Given the description of an element on the screen output the (x, y) to click on. 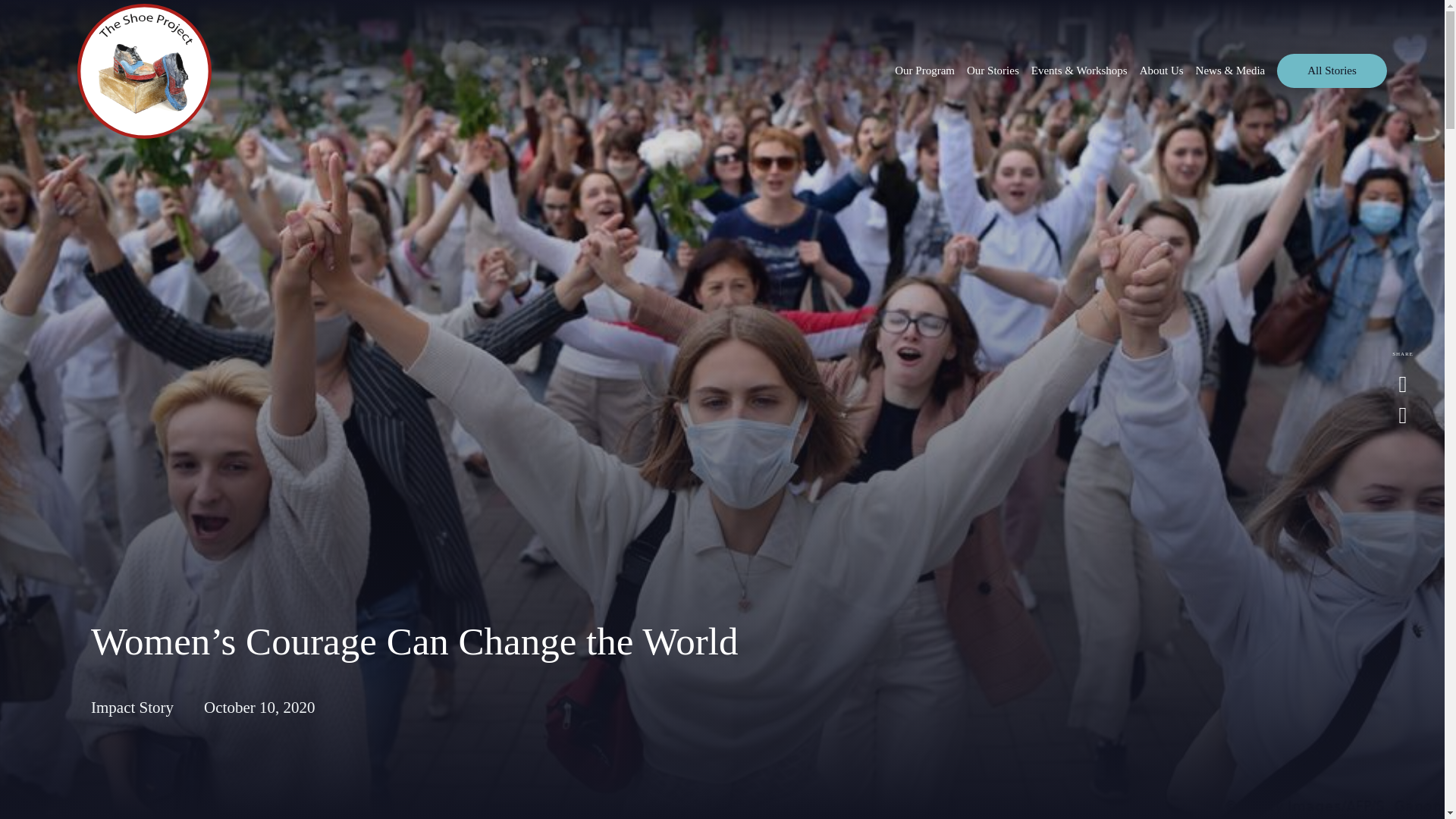
Our Program (925, 71)
All Stories (1331, 70)
About Us (1161, 71)
Our Stories (992, 71)
